Given the description of an element on the screen output the (x, y) to click on. 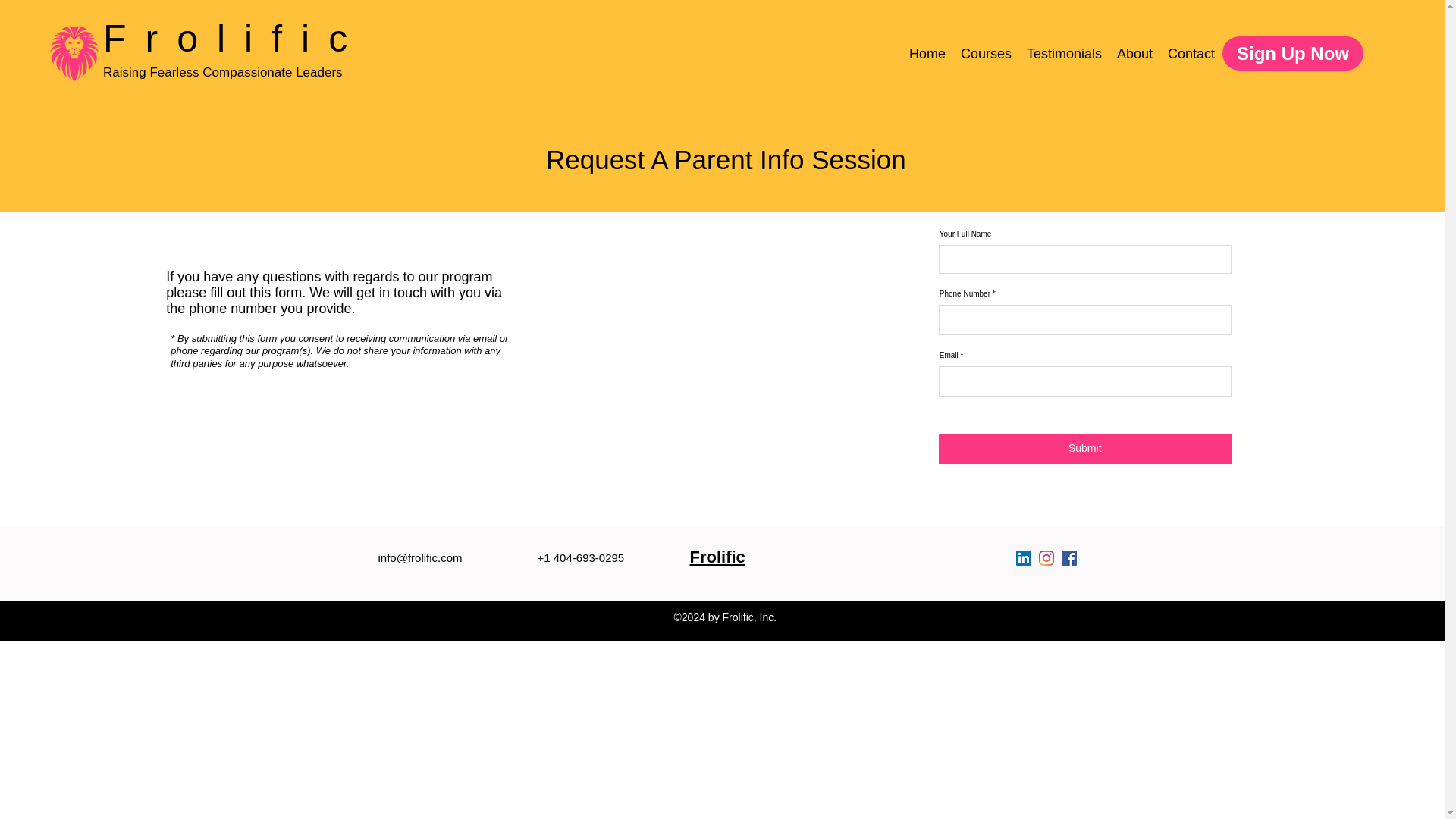
Home (927, 53)
Submit (1085, 449)
Frolific (234, 38)
Testimonials (1064, 53)
Frolific (717, 556)
Sign Up Now (1292, 53)
